Given the description of an element on the screen output the (x, y) to click on. 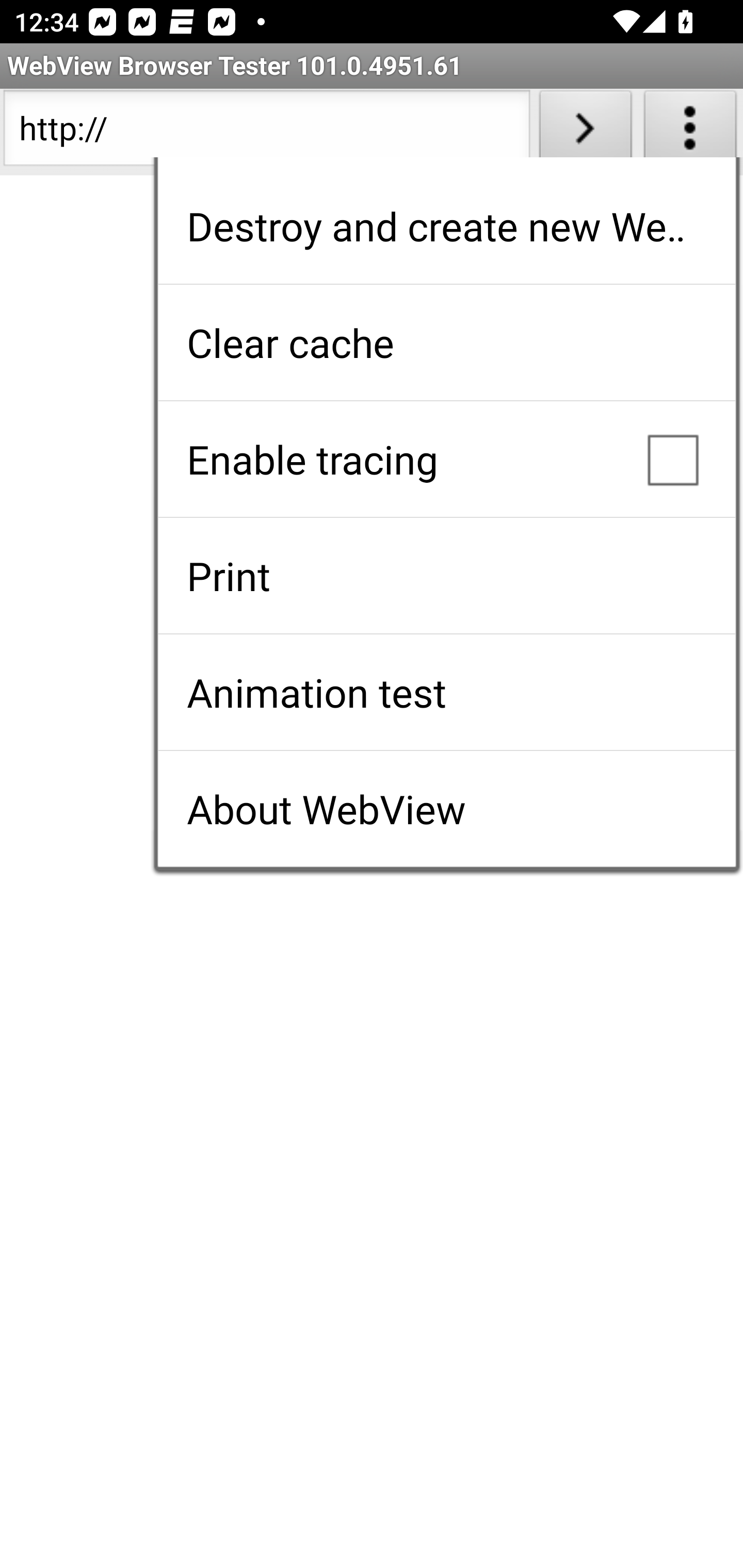
Destroy and create new WebView (446, 225)
Clear cache (446, 342)
Enable tracing (446, 459)
Print (446, 575)
Animation test (446, 692)
About WebView (446, 809)
